Given the description of an element on the screen output the (x, y) to click on. 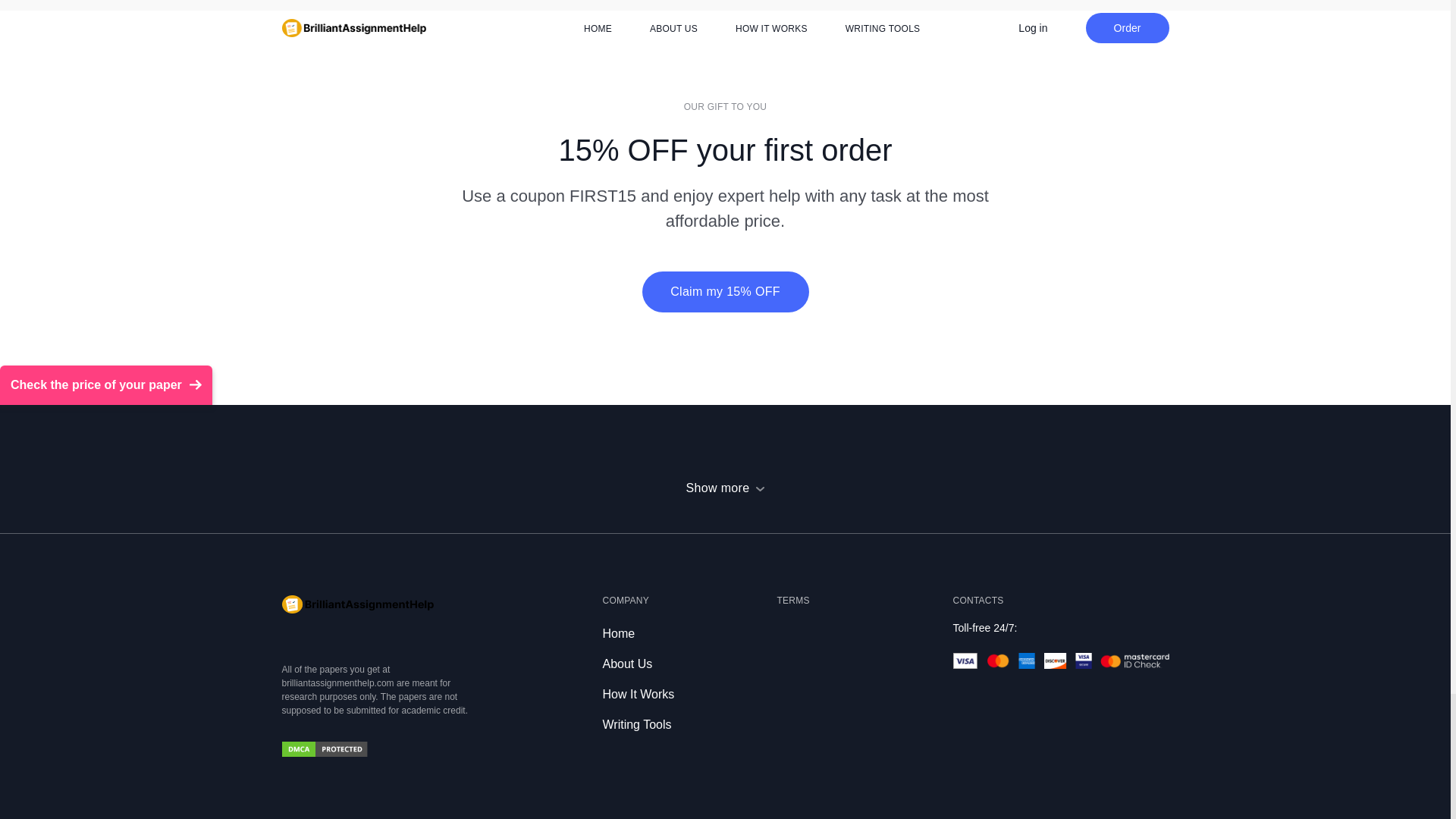
Home (618, 633)
How It Works (638, 694)
About Us (627, 663)
Show more (725, 487)
Writing Tools (636, 724)
